Given the description of an element on the screen output the (x, y) to click on. 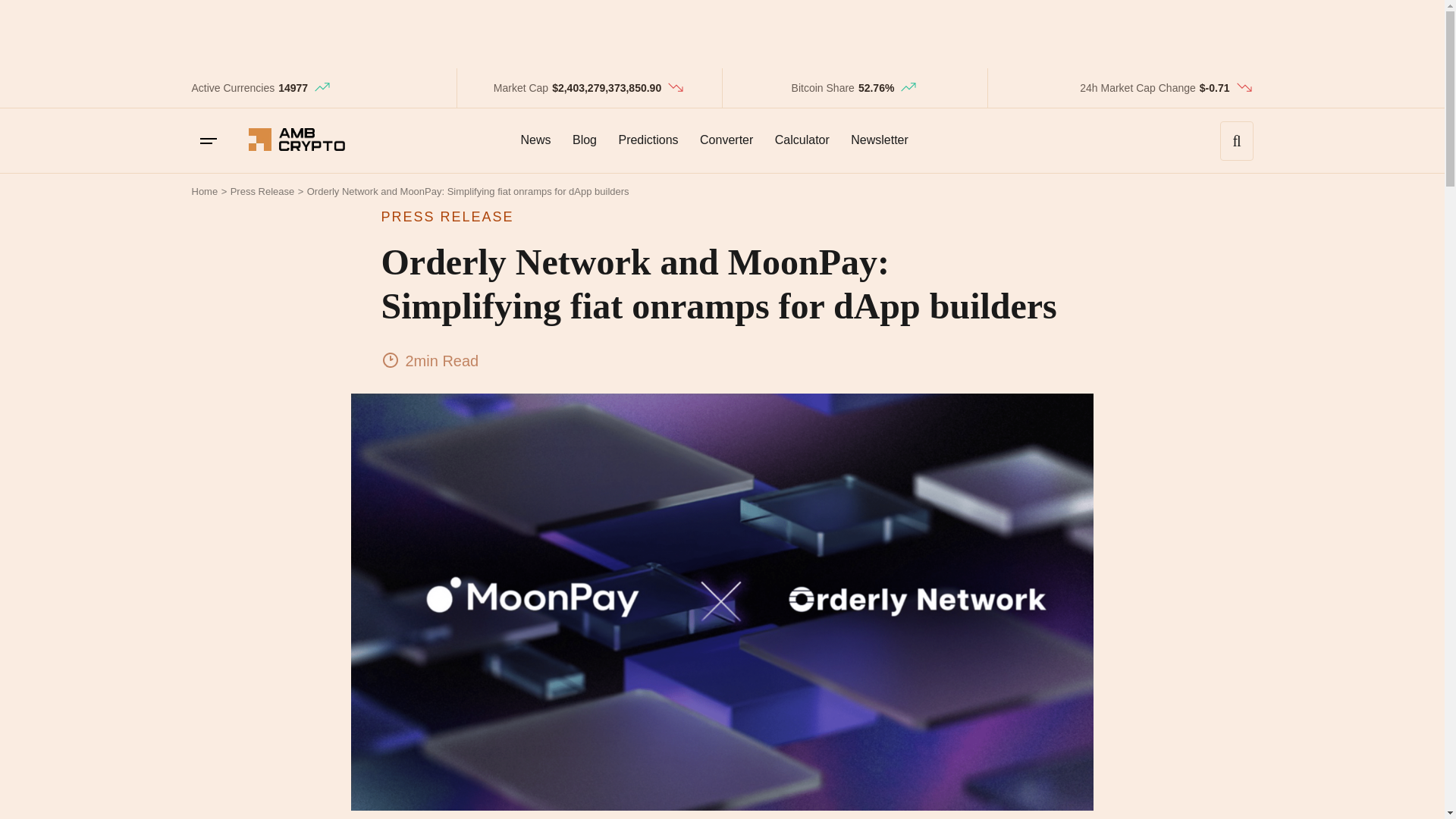
Converter (725, 139)
Newsletter (879, 139)
Home (203, 191)
Home (203, 191)
PRESS RELEASE (721, 216)
Blog (584, 139)
Calculator (801, 139)
News (535, 139)
Press Release (262, 191)
Predictions (647, 139)
Press Release (262, 191)
